Given the description of an element on the screen output the (x, y) to click on. 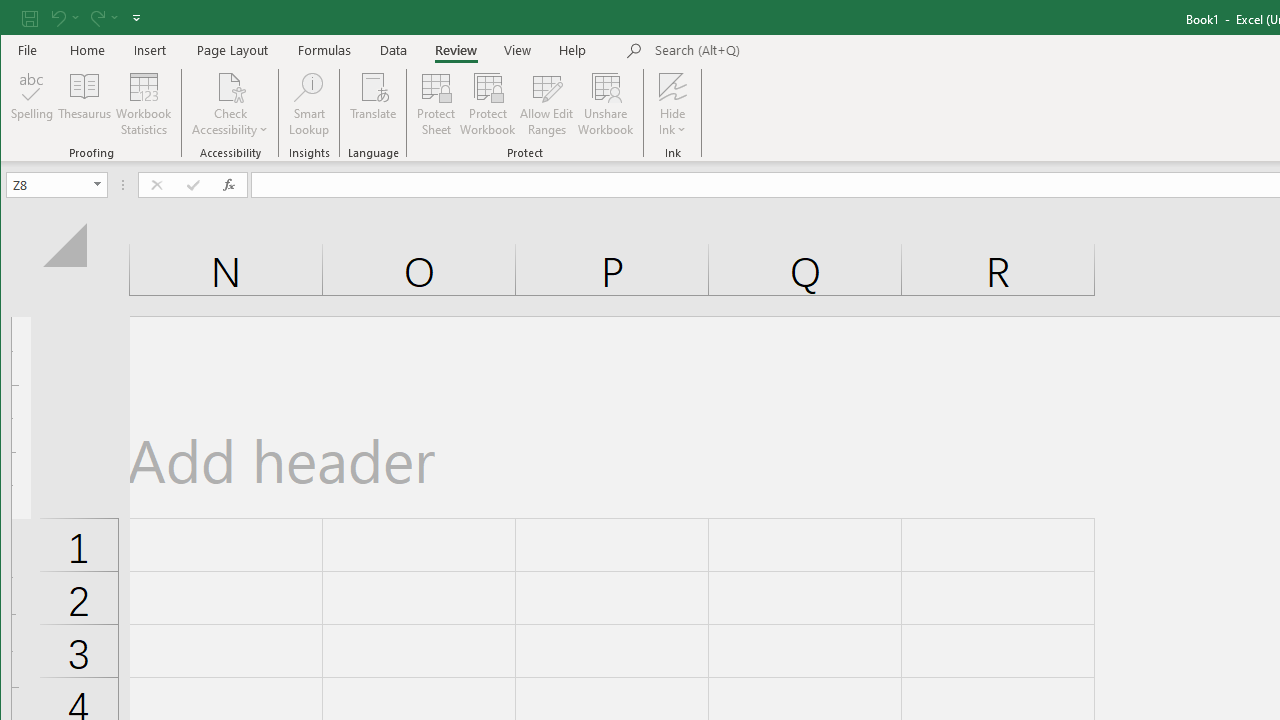
Translate (373, 104)
Unshare Workbook (606, 104)
Allow Edit Ranges (547, 104)
